Given the description of an element on the screen output the (x, y) to click on. 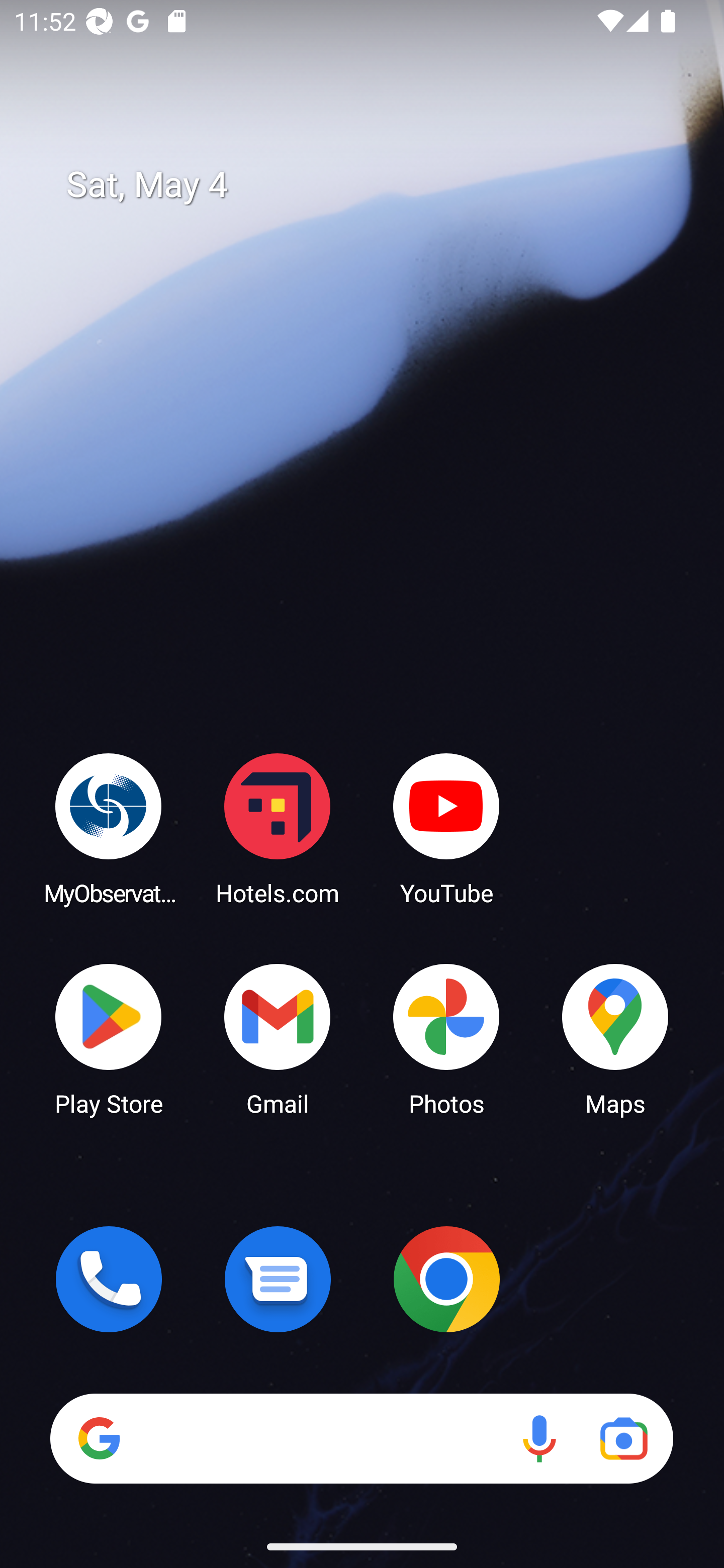
Sat, May 4 (375, 184)
MyObservatory (108, 828)
Hotels.com (277, 828)
YouTube (445, 828)
Play Store (108, 1038)
Gmail (277, 1038)
Photos (445, 1038)
Maps (615, 1038)
Phone (108, 1279)
Messages (277, 1279)
Chrome (446, 1279)
Search Voice search Google Lens (361, 1438)
Voice search (539, 1438)
Google Lens (623, 1438)
